Given the description of an element on the screen output the (x, y) to click on. 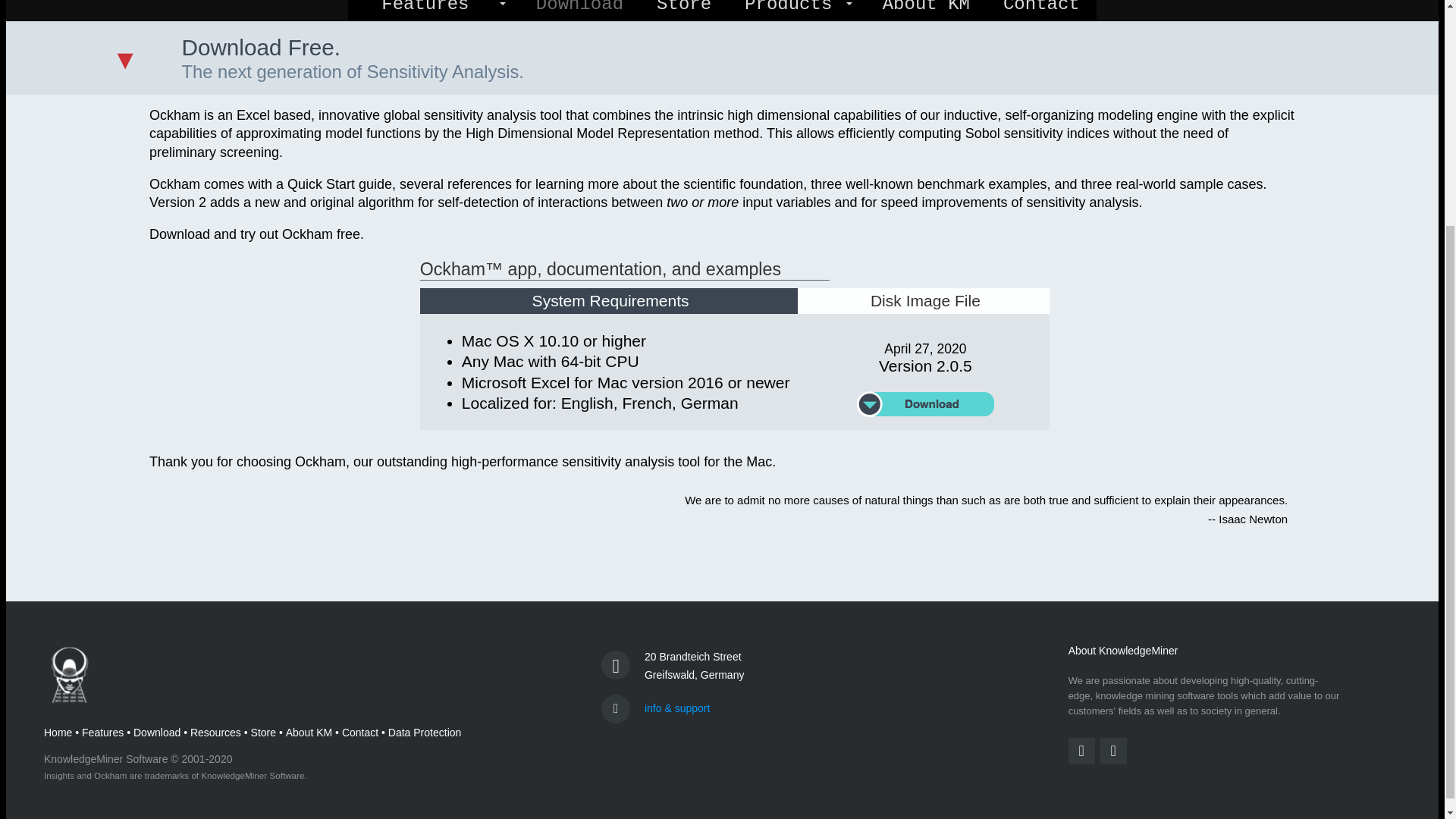
Data Protection (424, 732)
About KM (308, 732)
Features (424, 10)
Contact (360, 732)
Features (102, 732)
Store (683, 10)
Store (263, 732)
Download (156, 732)
Home (57, 732)
Resources (215, 732)
